Given the description of an element on the screen output the (x, y) to click on. 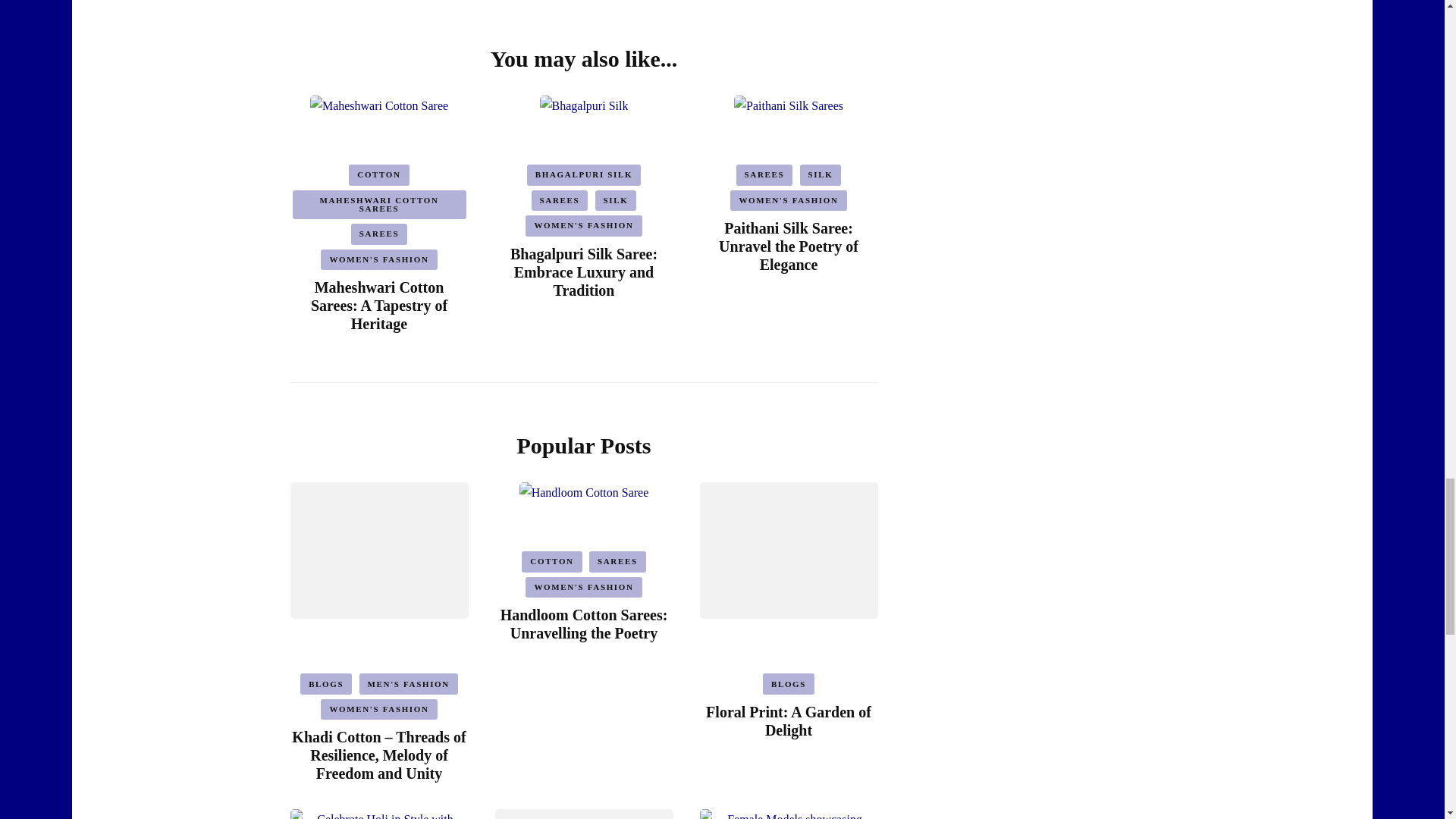
COTTON (379, 174)
WOMEN'S FASHION (583, 225)
WOMEN'S FASHION (378, 260)
Bhagalpuri Silk Saree: Embrace Luxury and Tradition (584, 271)
SAREES (378, 233)
Maheshwari Cotton Sarees: A Tapestry of Heritage (378, 305)
SILK (616, 200)
MAHESHWARI COTTON SAREES (378, 205)
BHAGALPURI SILK (583, 174)
SAREES (559, 200)
